Given the description of an element on the screen output the (x, y) to click on. 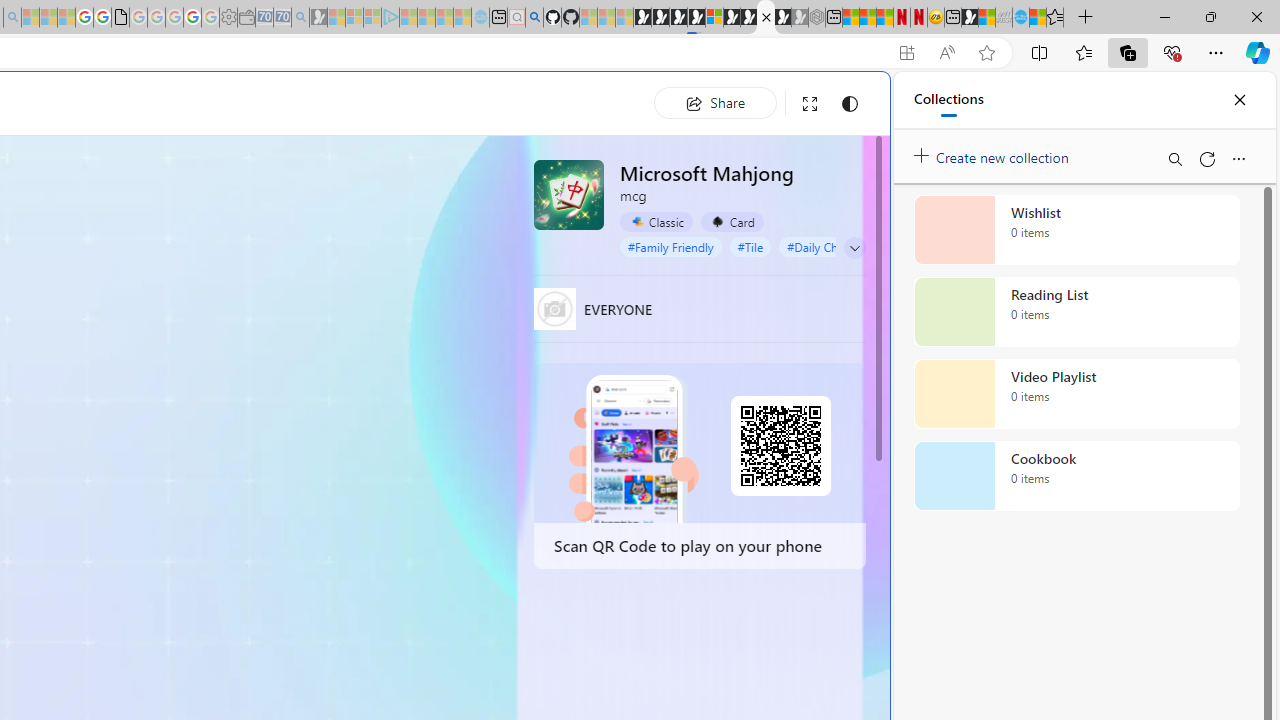
Wishlist collection, 0 items (1076, 229)
#Tile (750, 246)
Microsoft Mahjong (568, 194)
Change to dark mode (849, 103)
#Daily Challenge (831, 246)
#Family Friendly (670, 246)
